Given the description of an element on the screen output the (x, y) to click on. 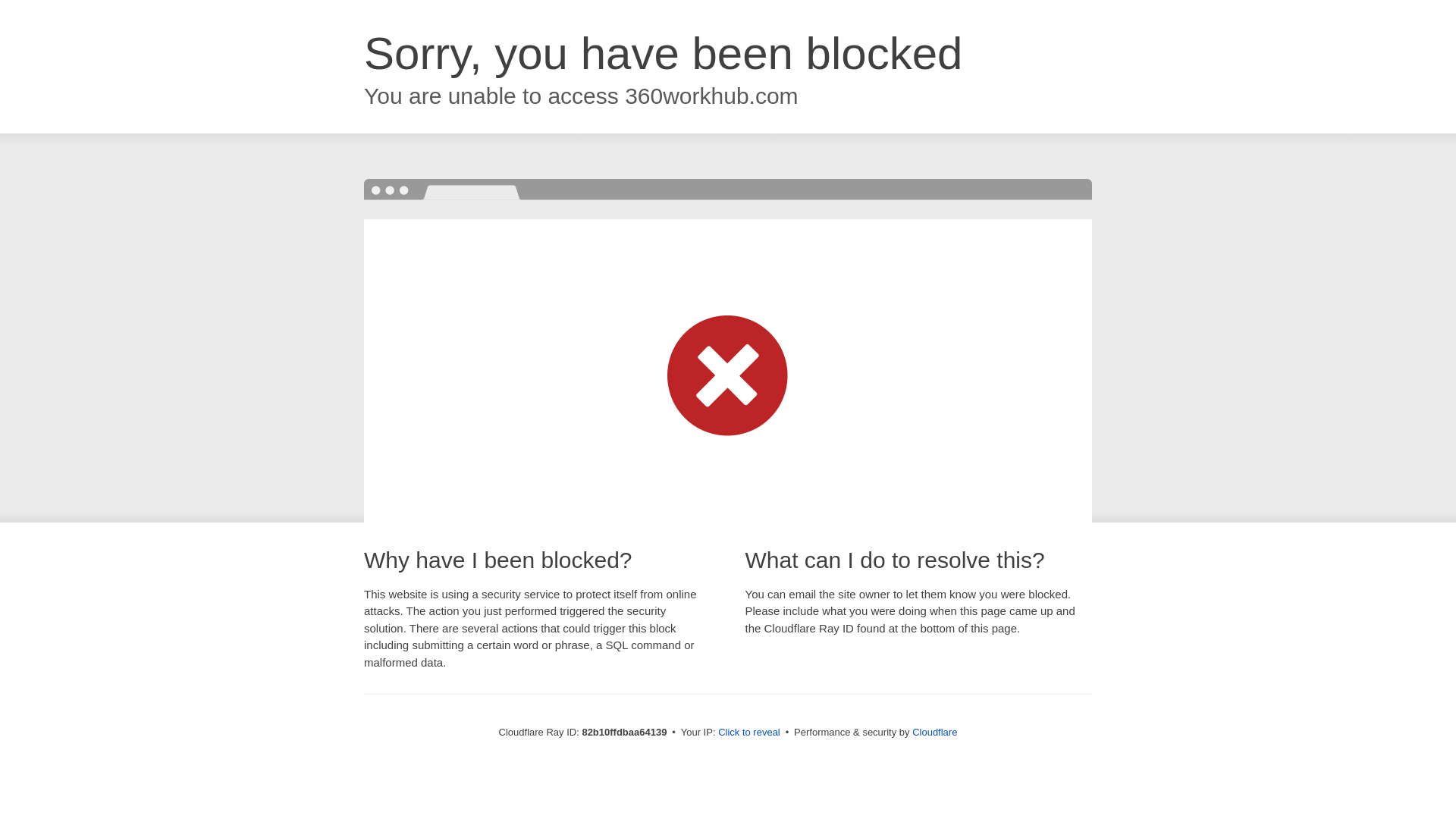
Click to reveal Element type: text (749, 732)
Cloudflare Element type: text (934, 731)
